Given the description of an element on the screen output the (x, y) to click on. 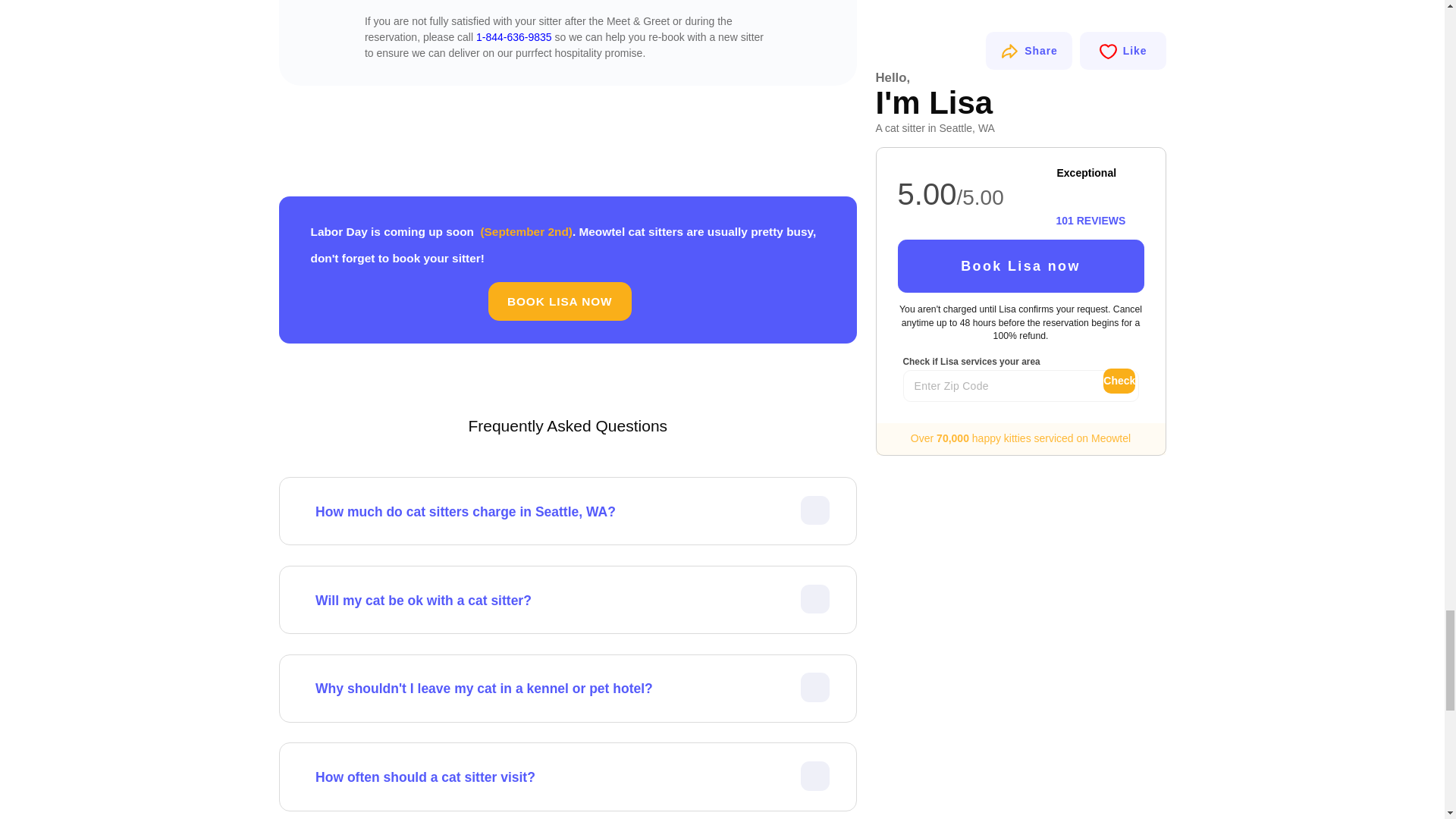
How often should a cat sitter visit? (572, 776)
Will my cat be ok with a cat sitter? (572, 599)
Why shouldn't I leave my cat in a kennel or pet hotel? (572, 688)
BOOK LISA NOW (559, 301)
1-844-636-9835 (513, 37)
How much do cat sitters charge in Seattle, WA? (572, 511)
